Given the description of an element on the screen output the (x, y) to click on. 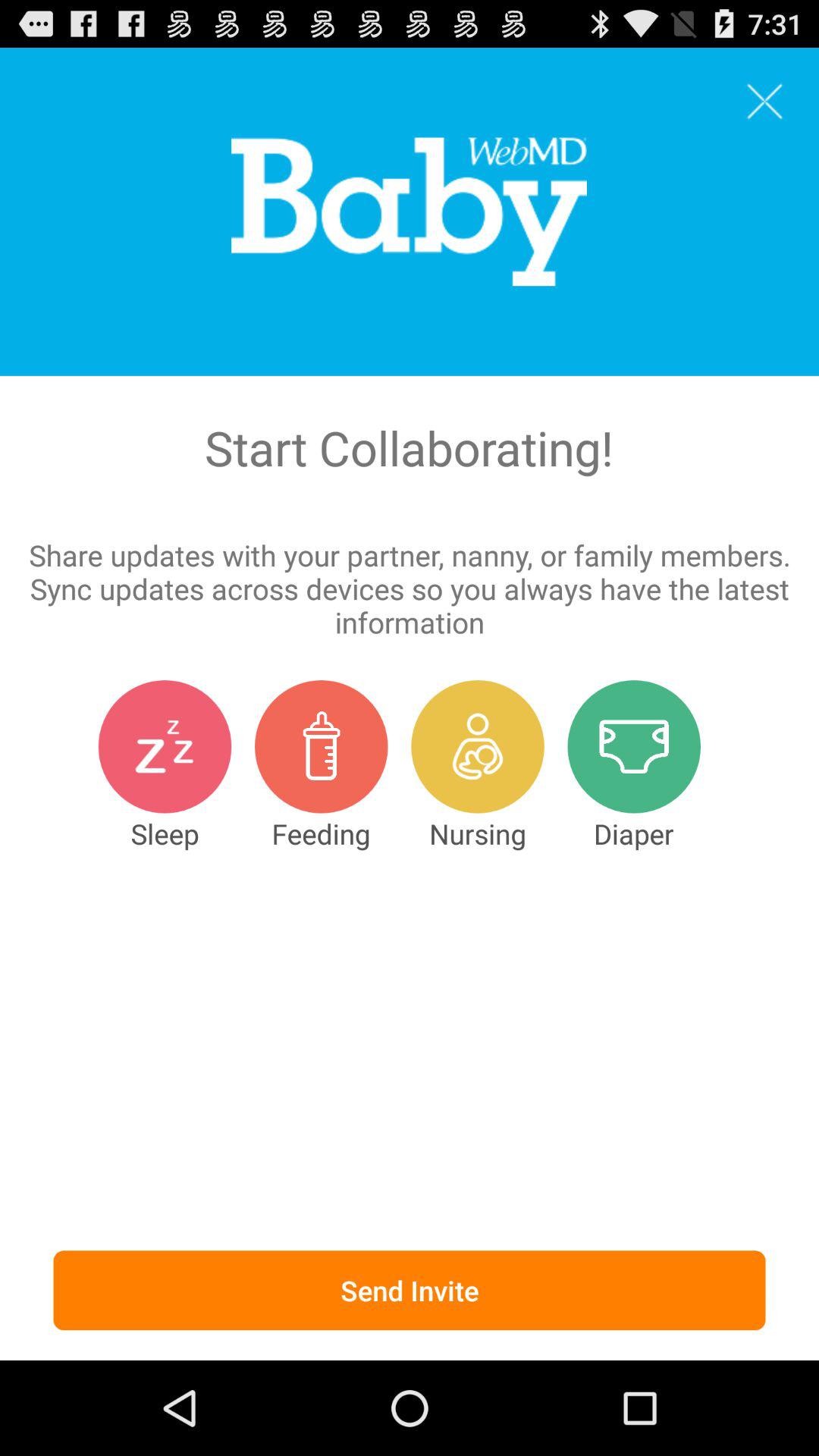
jump to the send invite icon (409, 1290)
